Given the description of an element on the screen output the (x, y) to click on. 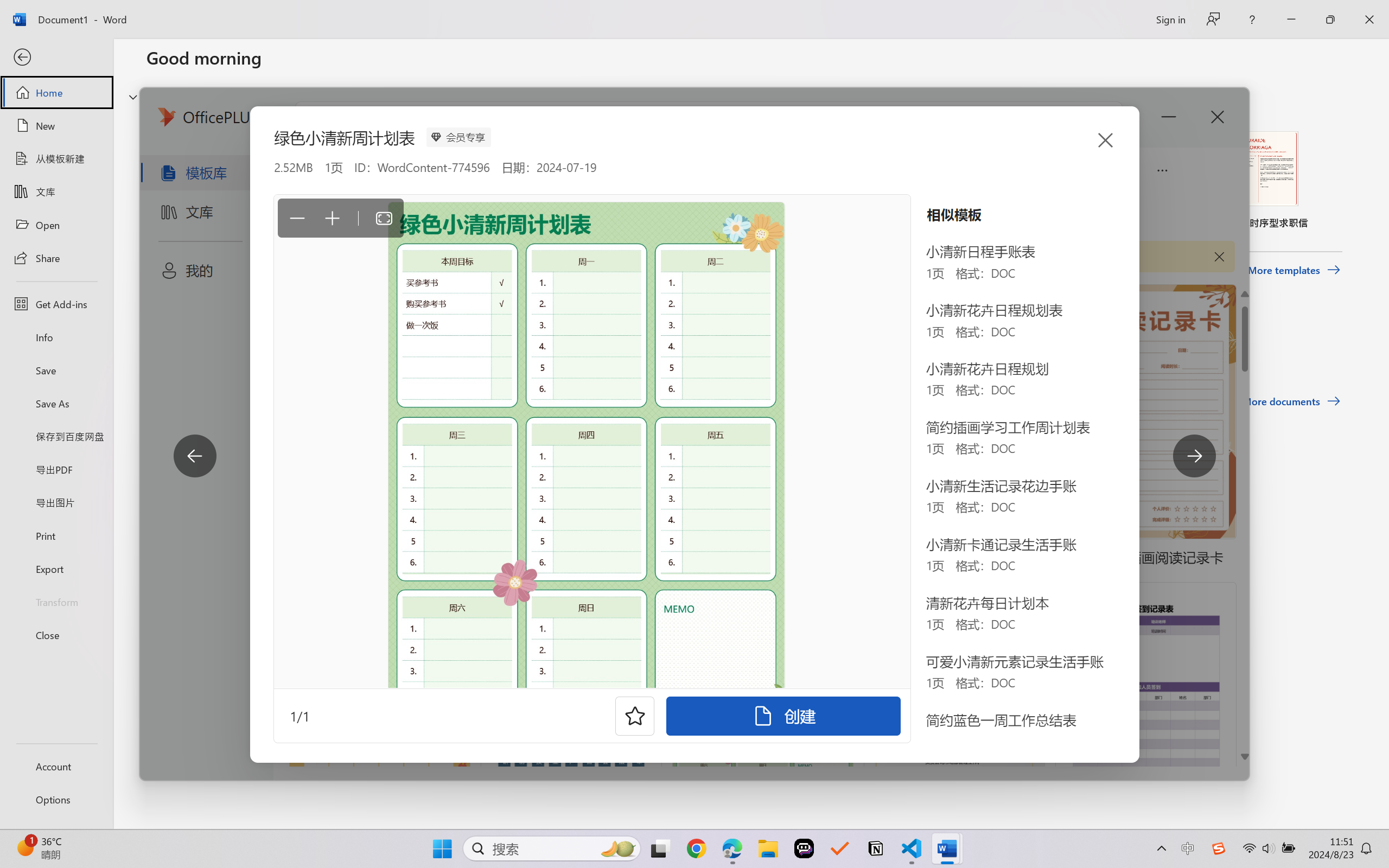
Pinned (226, 345)
Recent (171, 345)
Hide or show region (133, 96)
Back (56, 57)
Save As (56, 403)
Info (56, 337)
Export (56, 568)
